Given the description of an element on the screen output the (x, y) to click on. 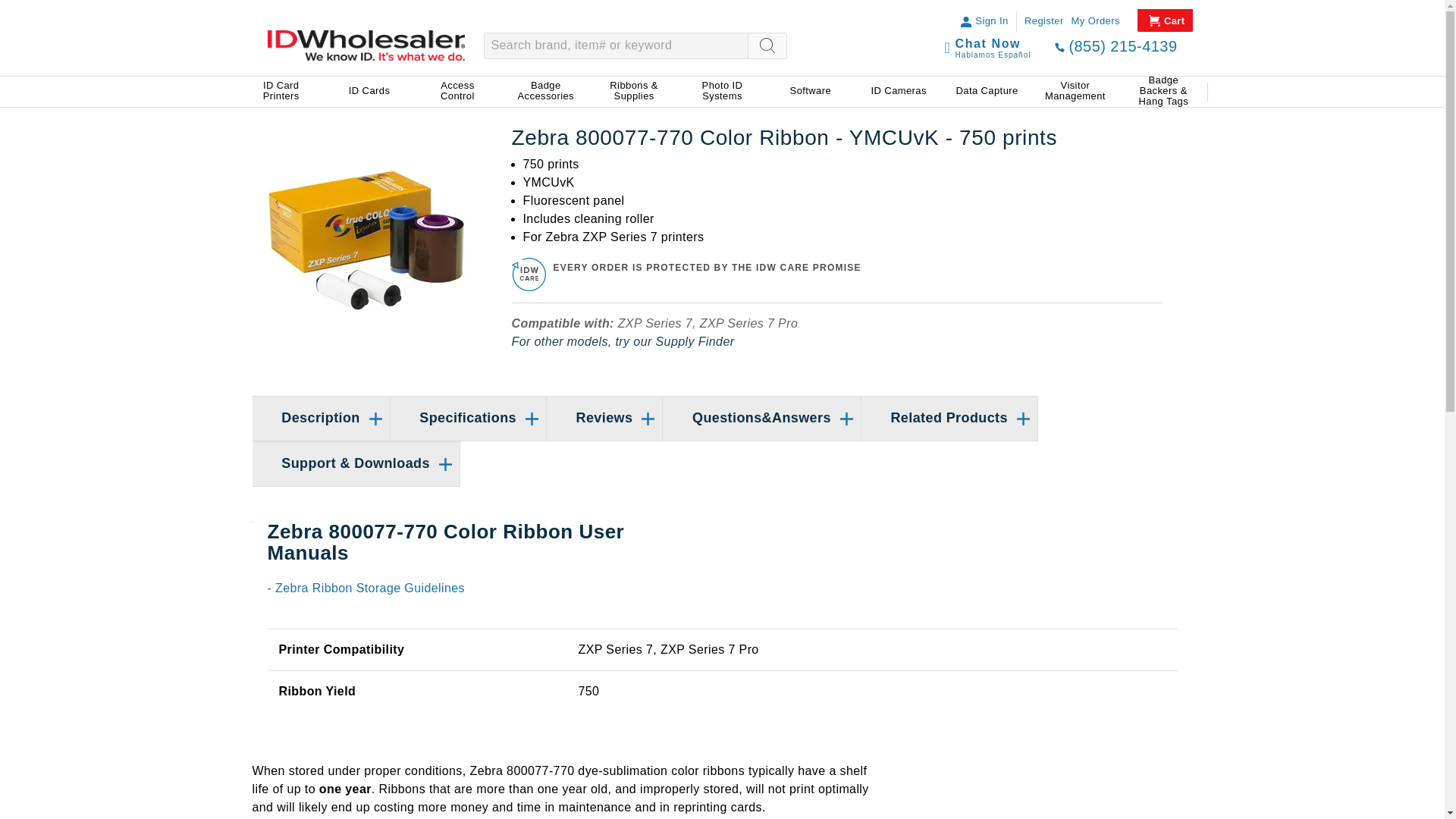
ID Card Printers (280, 91)
SEARCH (767, 45)
Sign In (991, 20)
Cart (1166, 20)
Register (1044, 20)
Chat Now (992, 43)
My Orders (1095, 20)
ID Cards (368, 91)
Search (767, 45)
